Given the description of an element on the screen output the (x, y) to click on. 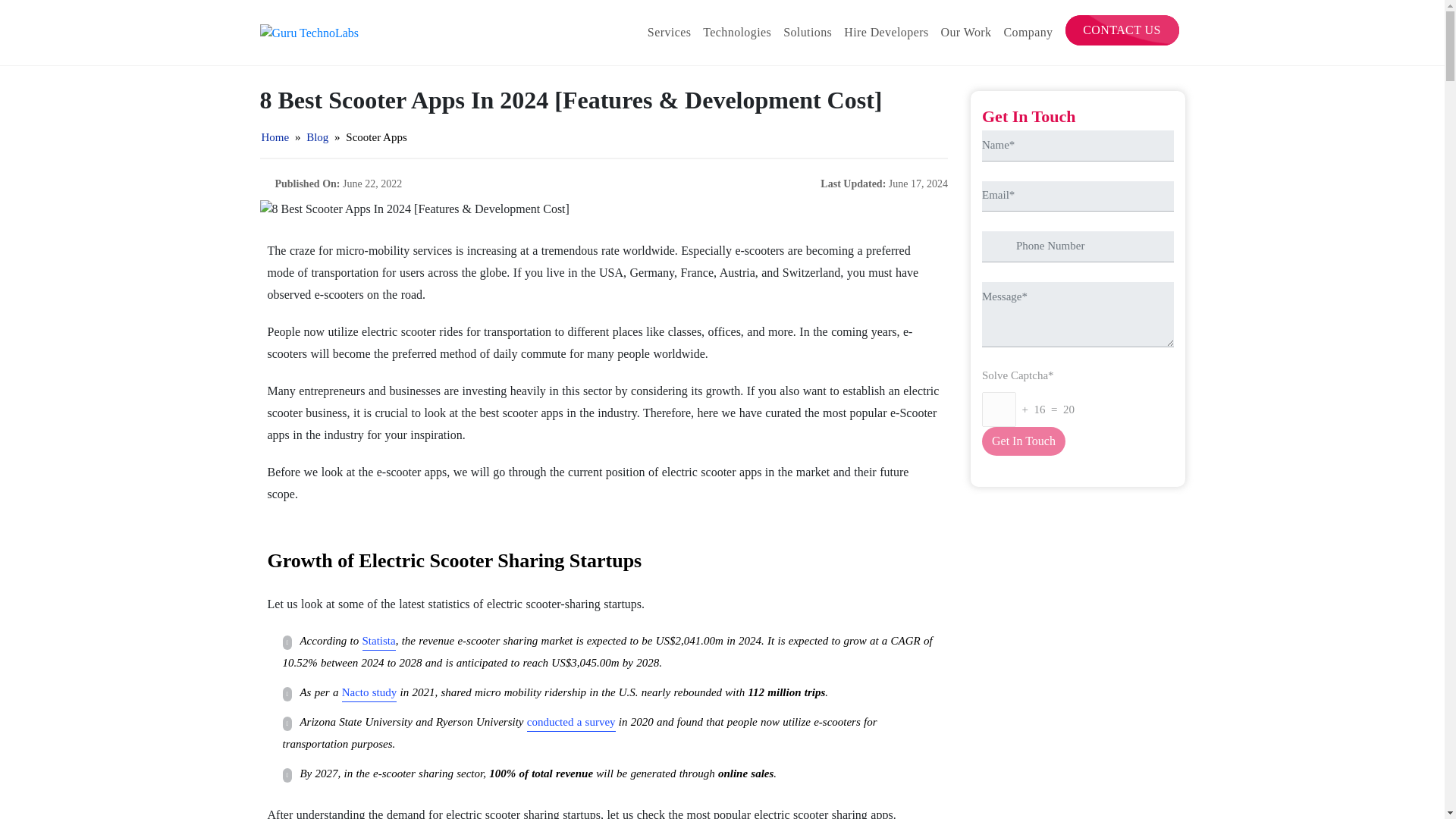
Get In Touch (1023, 440)
Technologies (737, 32)
Guru TechnoLabs (308, 33)
Services (668, 32)
